Given the description of an element on the screen output the (x, y) to click on. 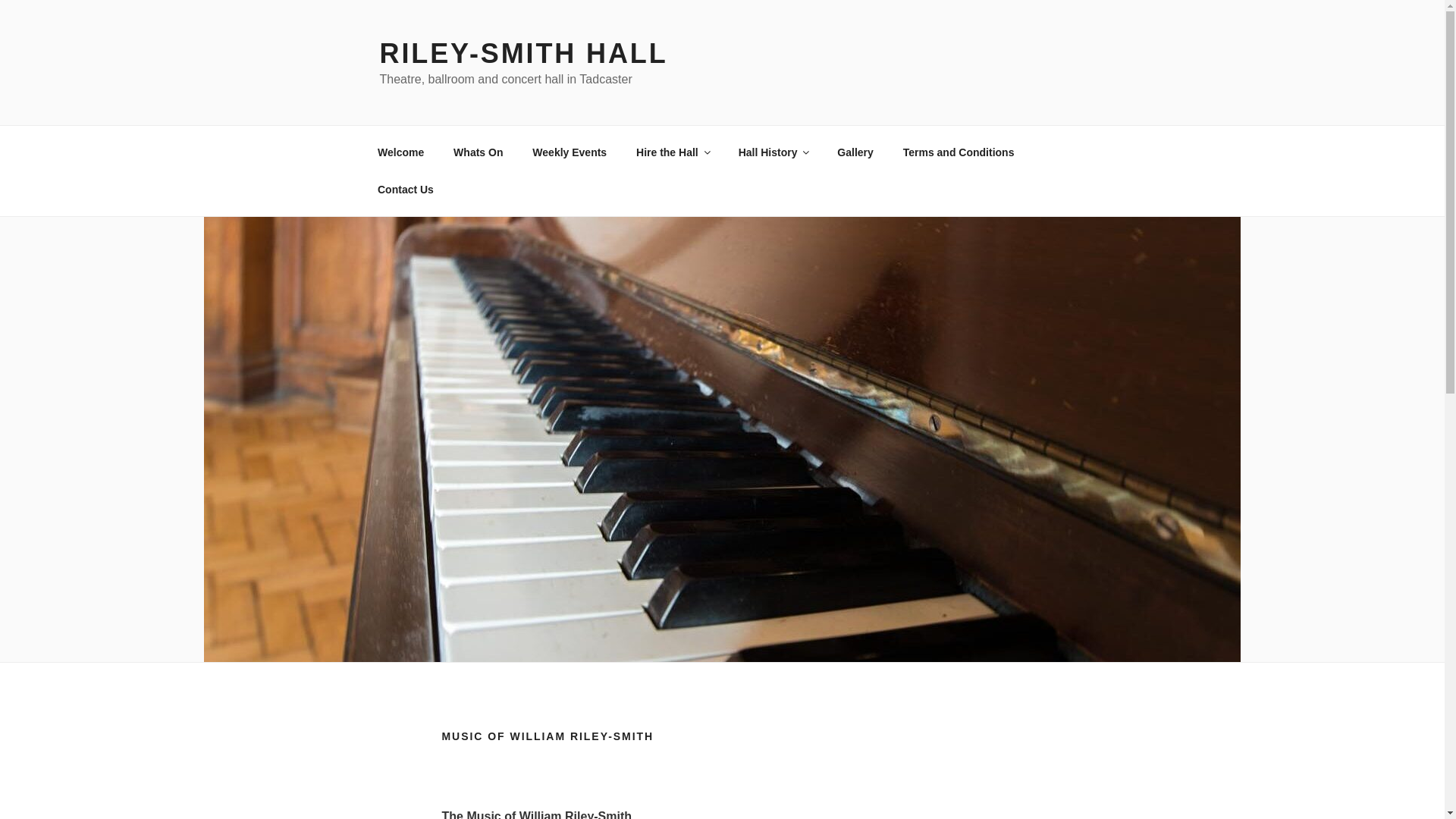
Whats On (478, 151)
Hire the Hall (672, 151)
Gallery (855, 151)
Hall History (773, 151)
Weekly Events (569, 151)
Contact Us (405, 189)
Terms and Conditions (958, 151)
Welcome (400, 151)
RILEY-SMITH HALL (522, 52)
